Given the description of an element on the screen output the (x, y) to click on. 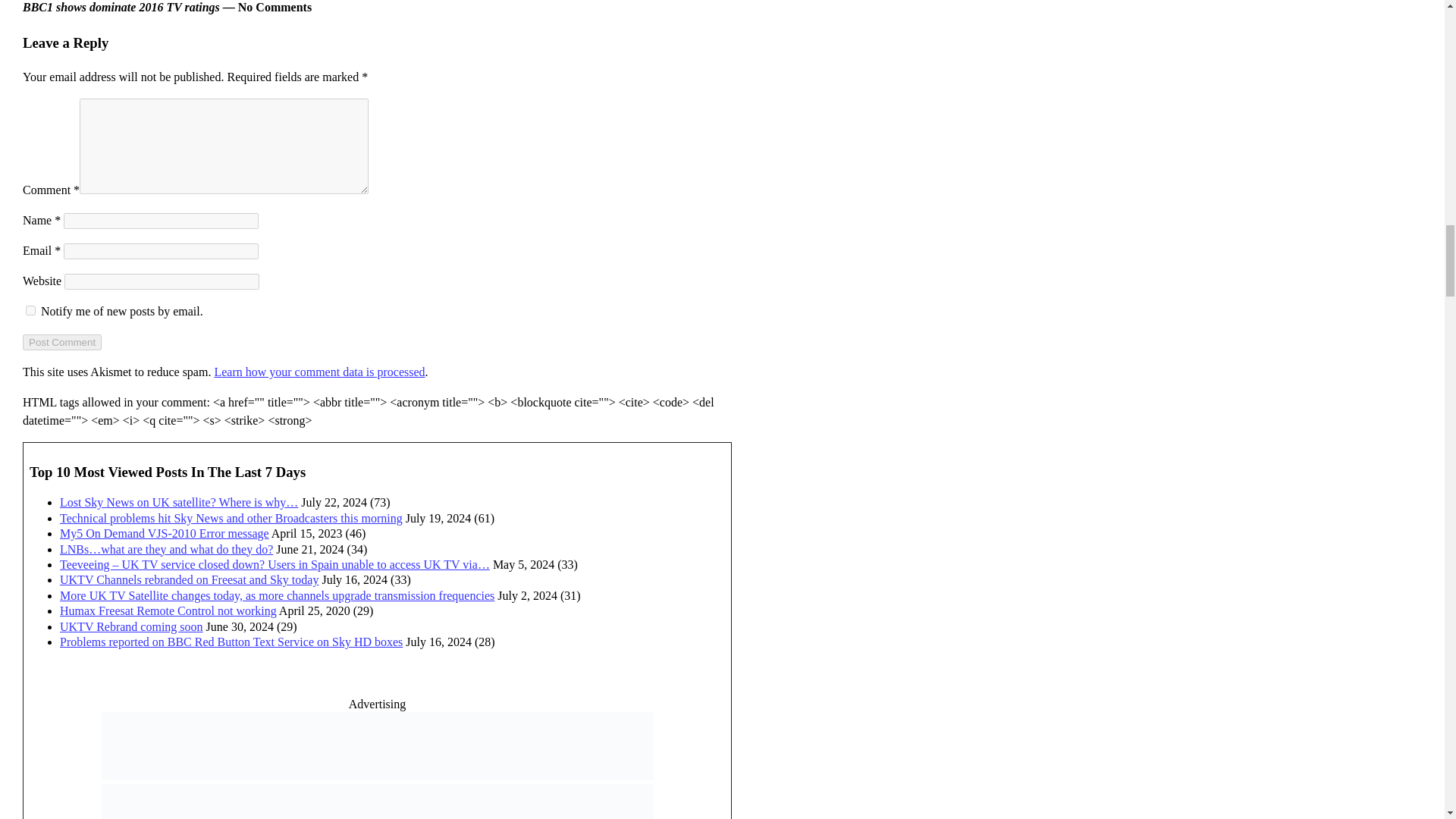
Smart DNS Proxy Services (377, 745)
Smart DNS Proxy Services (377, 775)
Post Comment (62, 342)
subscribe (30, 310)
Best VPN for UK TV (377, 801)
